Given the description of an element on the screen output the (x, y) to click on. 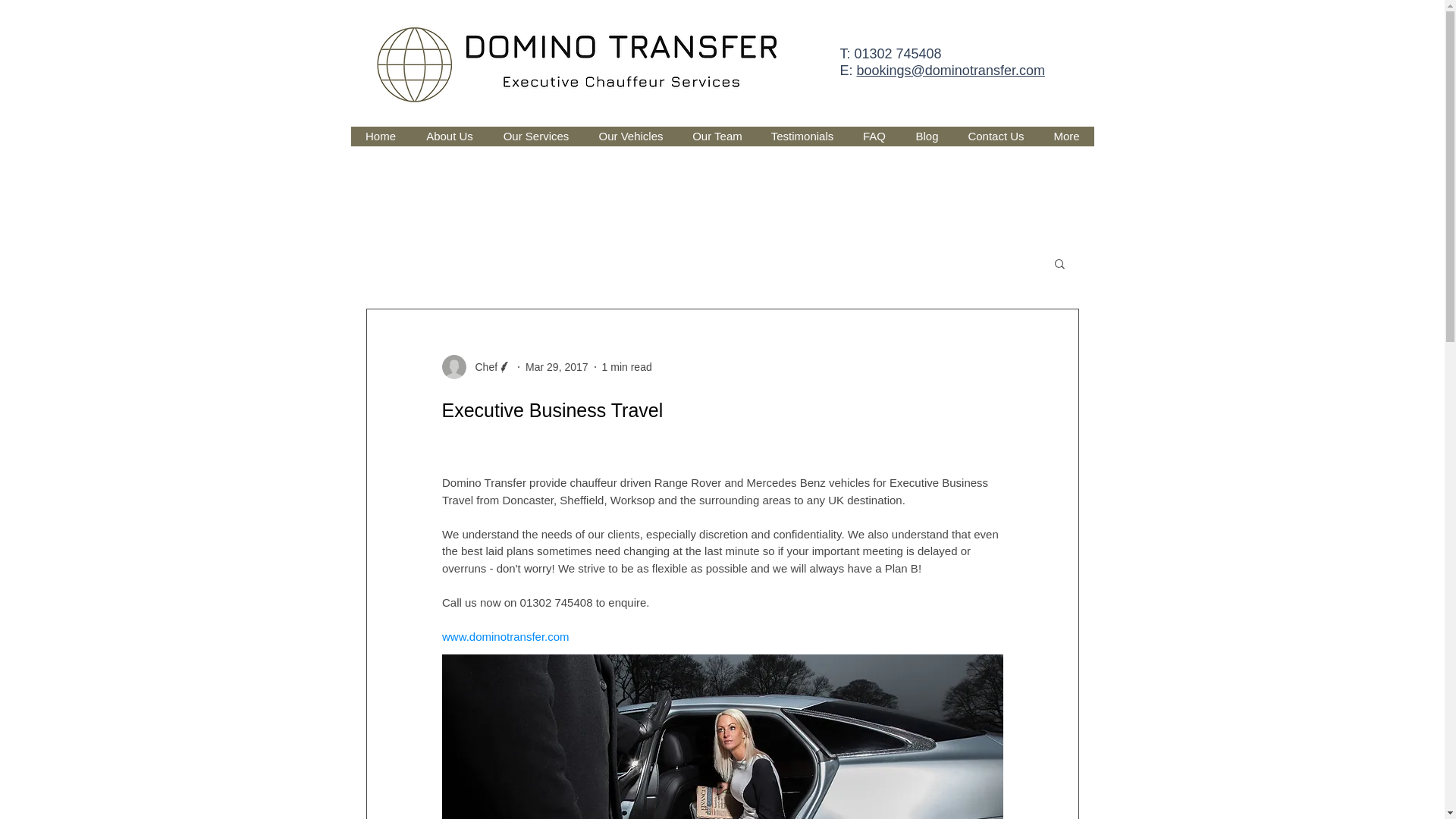
Contact Us (995, 136)
Mar 29, 2017 (556, 367)
www.dominotransfer.com (505, 635)
Chef (481, 367)
Our Vehicles (630, 136)
About Us (448, 136)
Testimonials (802, 136)
Blog (927, 136)
Our Services (535, 136)
Our Team (717, 136)
Home (380, 136)
1 min read (627, 367)
FAQ (874, 136)
